Given the description of an element on the screen output the (x, y) to click on. 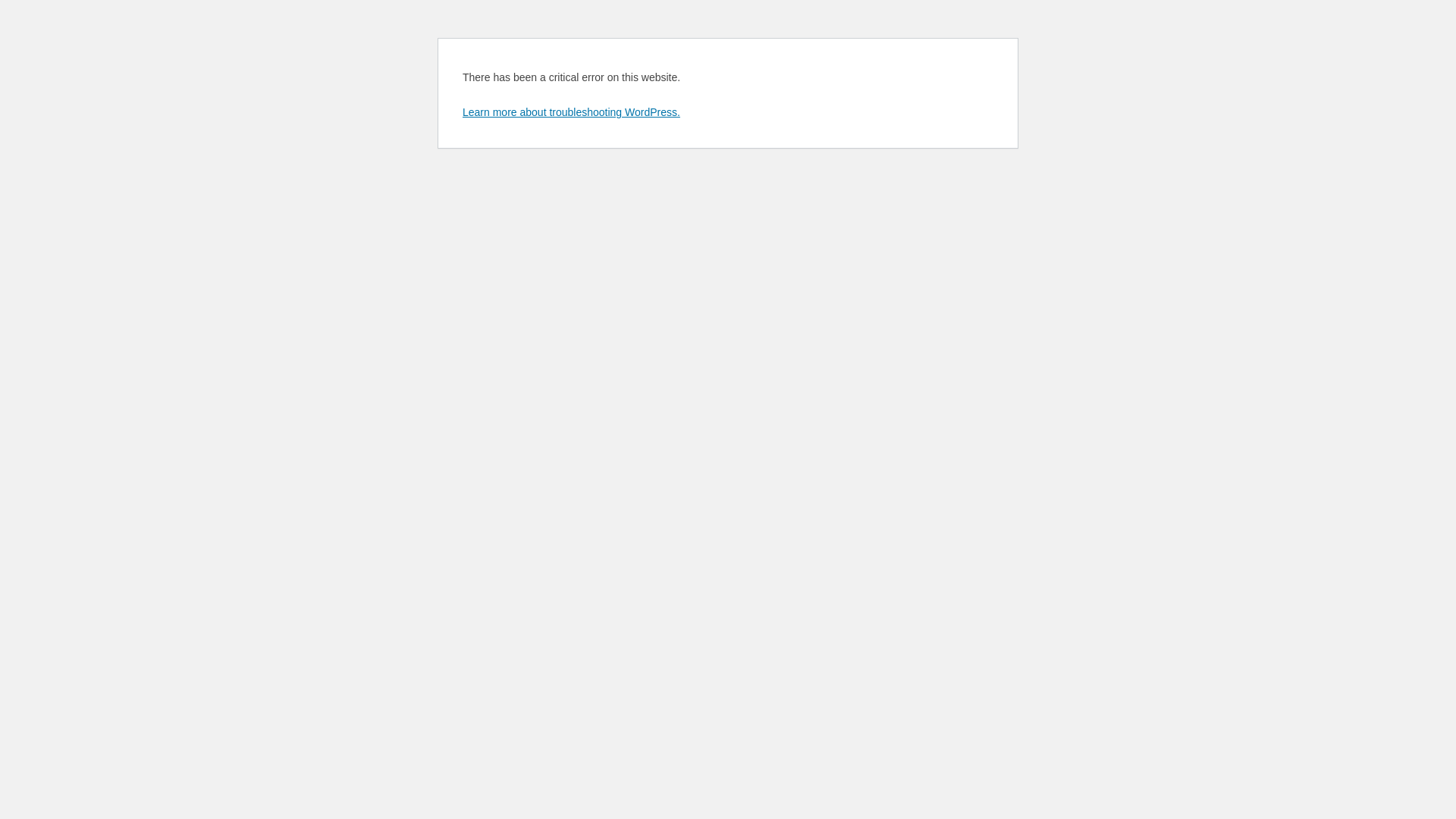
Learn more about troubleshooting WordPress. Element type: text (571, 112)
